Given the description of an element on the screen output the (x, y) to click on. 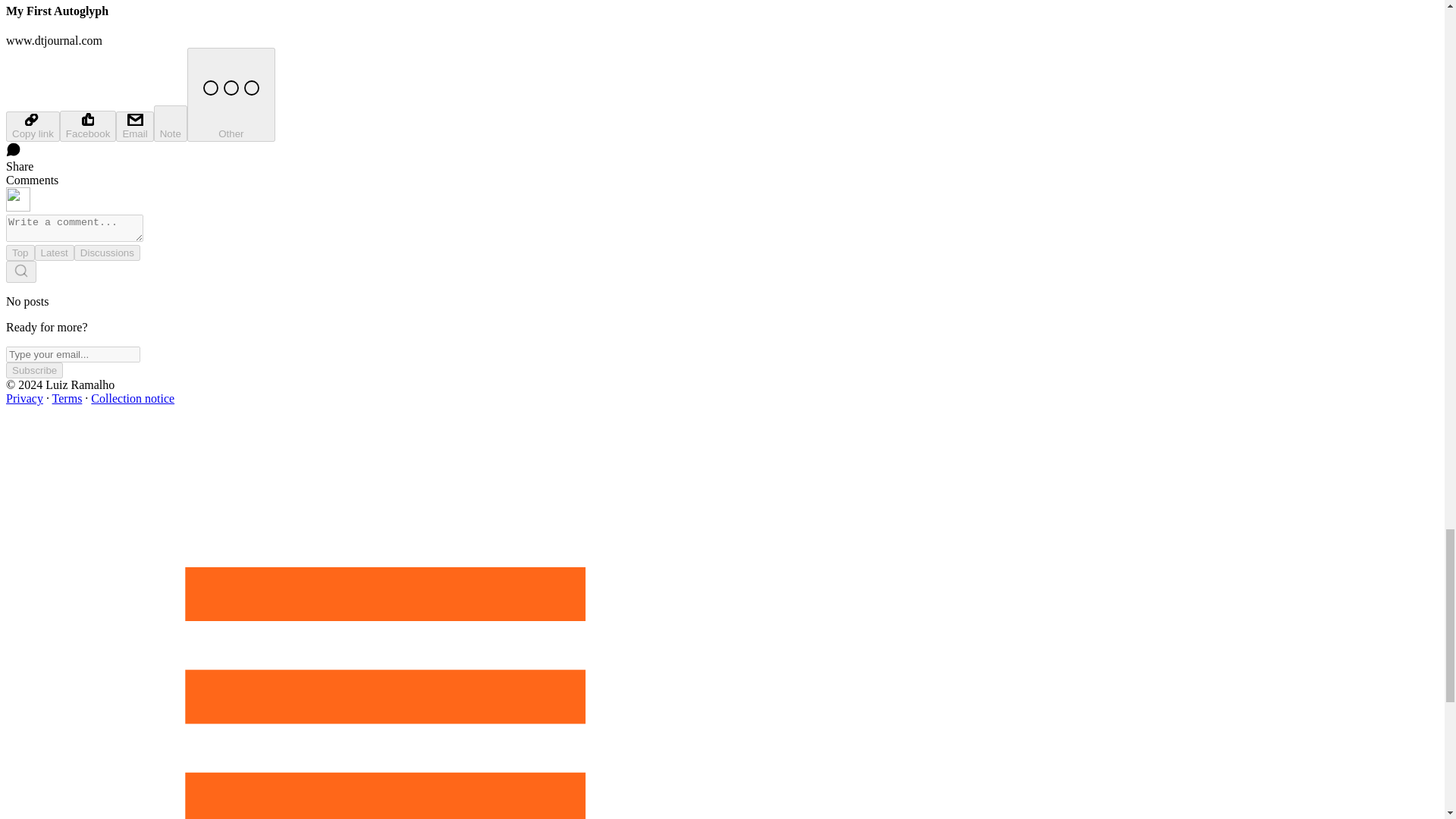
Facebook (87, 125)
Note (170, 123)
Other (231, 94)
Email (134, 126)
Copy link (32, 126)
